Given the description of an element on the screen output the (x, y) to click on. 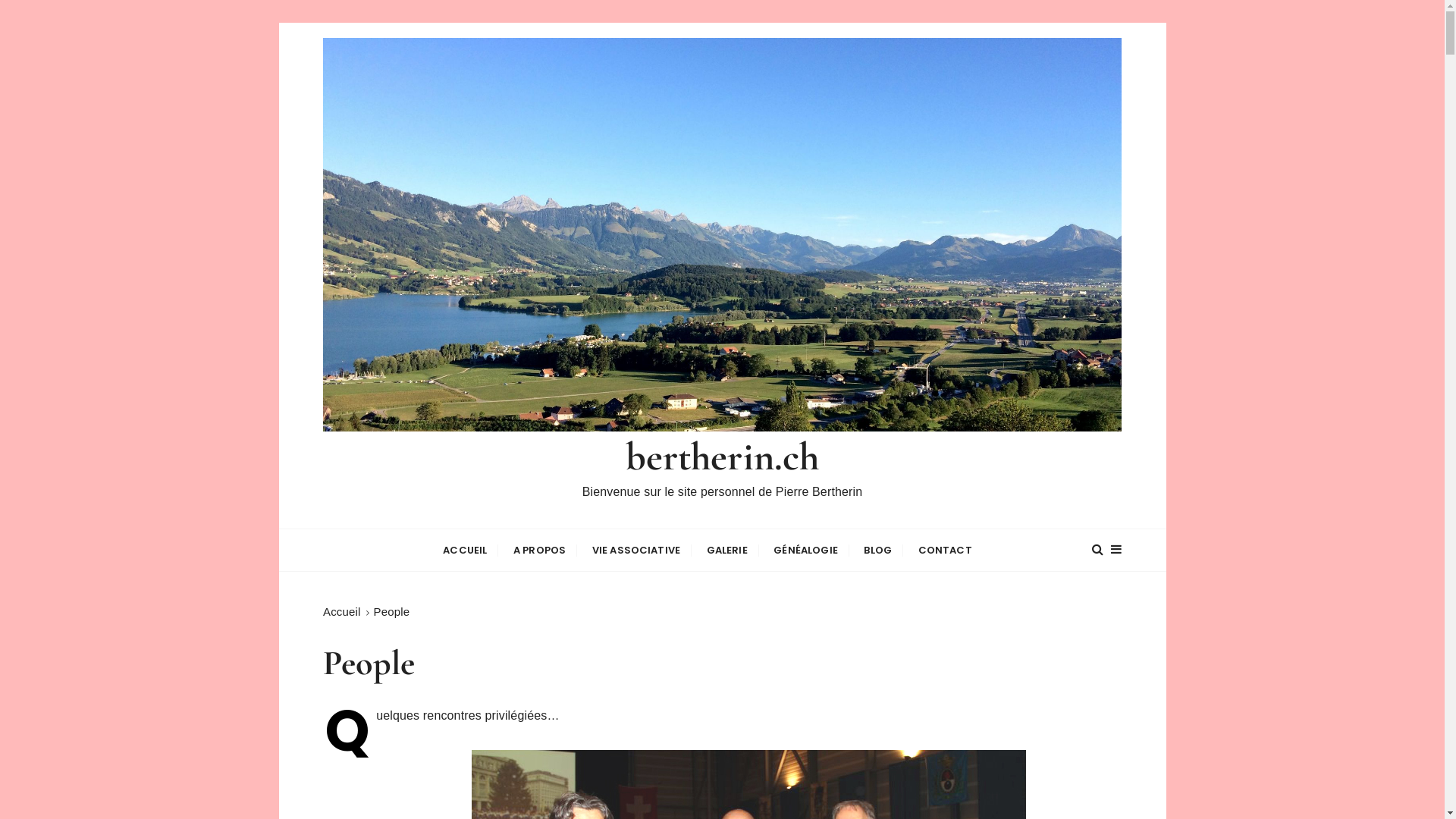
Passer au contenu Element type: text (277, 21)
Accueil Element type: text (341, 611)
A PROPOS Element type: text (539, 550)
VIE ASSOCIATIVE Element type: text (635, 550)
GALERIE Element type: text (727, 550)
CONTACT Element type: text (944, 550)
BLOG Element type: text (877, 550)
ACCUEIL Element type: text (464, 550)
People Element type: text (391, 611)
bertherin.ch Element type: text (722, 457)
